Given the description of an element on the screen output the (x, y) to click on. 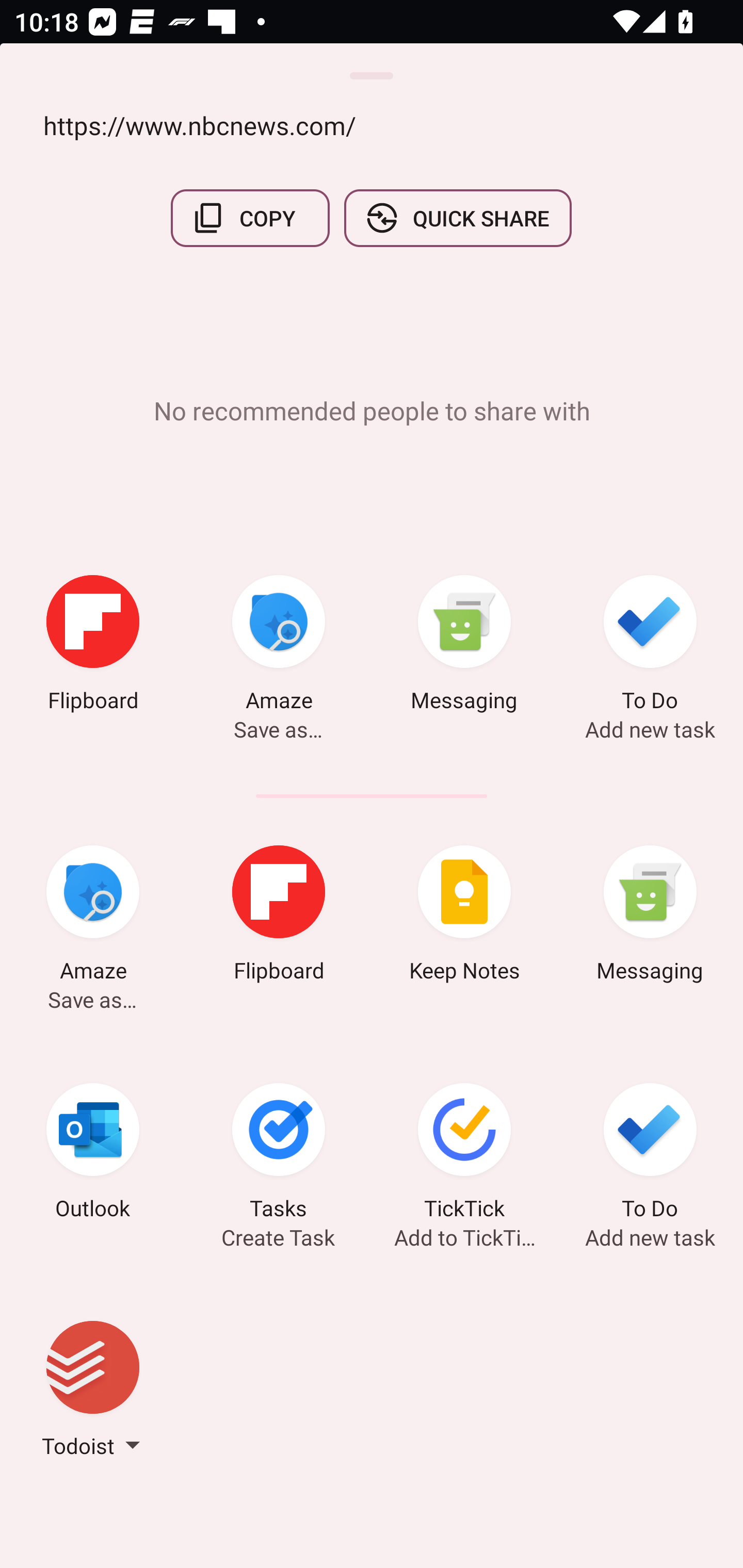
COPY (249, 218)
QUICK SHARE (457, 218)
Flipboard (92, 646)
Amaze Save as… (278, 646)
Messaging (464, 646)
To Do Add new task (650, 646)
Amaze Save as… (92, 917)
Flipboard (278, 917)
Keep Notes (464, 917)
Messaging (650, 917)
Outlook (92, 1154)
Tasks Create Task (278, 1154)
TickTick Add to TickTick (464, 1154)
To Do Add new task (650, 1154)
Todoist (92, 1392)
